Given the description of an element on the screen output the (x, y) to click on. 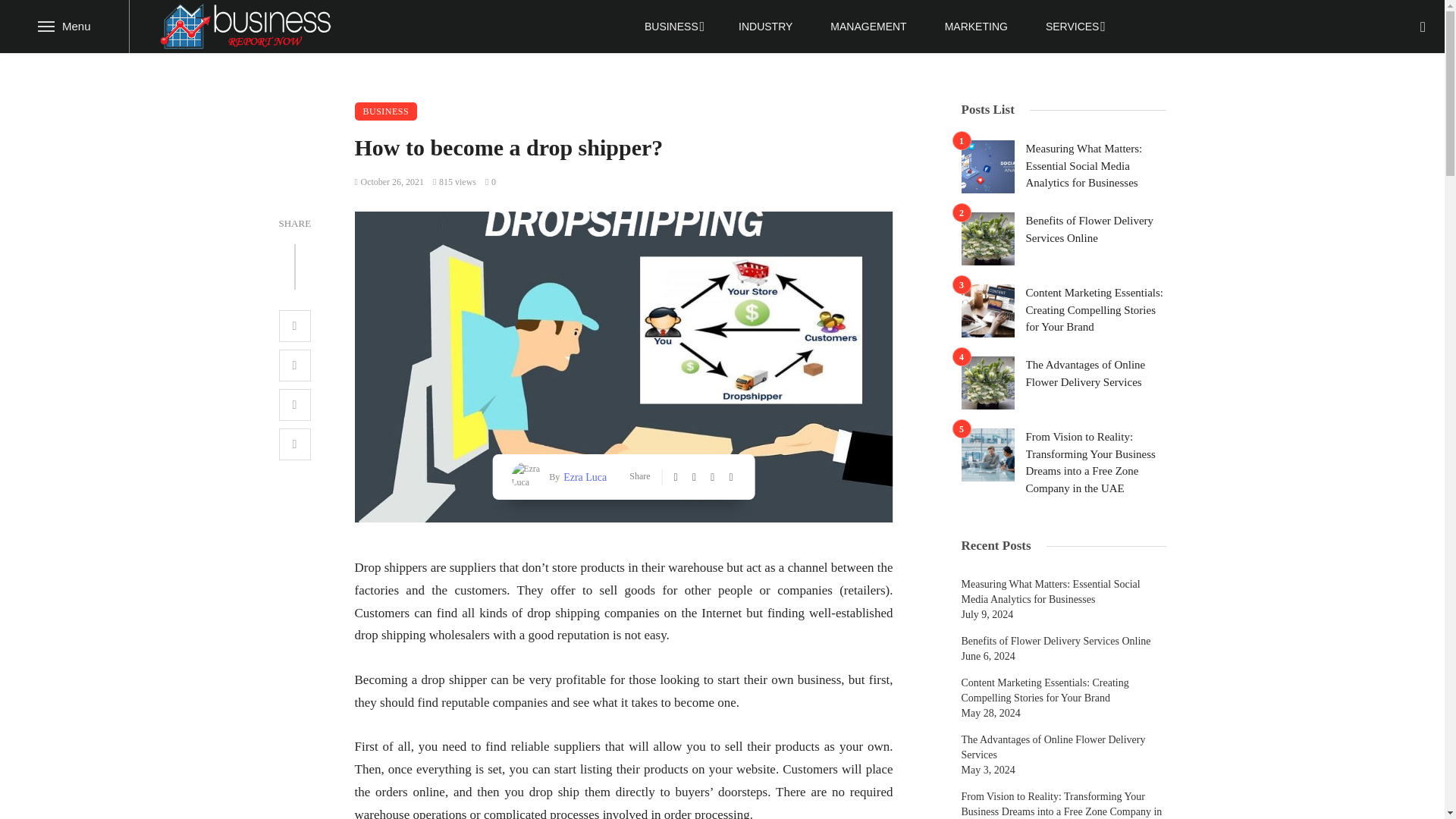
INDUSTRY (764, 26)
MARKETING (976, 26)
October 26, 2021 at 9:30 am (390, 181)
MANAGEMENT (867, 26)
Share on Pinterest (295, 404)
0 (490, 181)
Share on Facebook (295, 326)
Posts by Ezra Luca (583, 476)
Share on Twitter (295, 365)
BUSINESS (672, 26)
Menu (64, 26)
SERVICES (1073, 26)
0 Comments (490, 181)
Share on Linkedin (295, 444)
BUSINESS (386, 111)
